Given the description of an element on the screen output the (x, y) to click on. 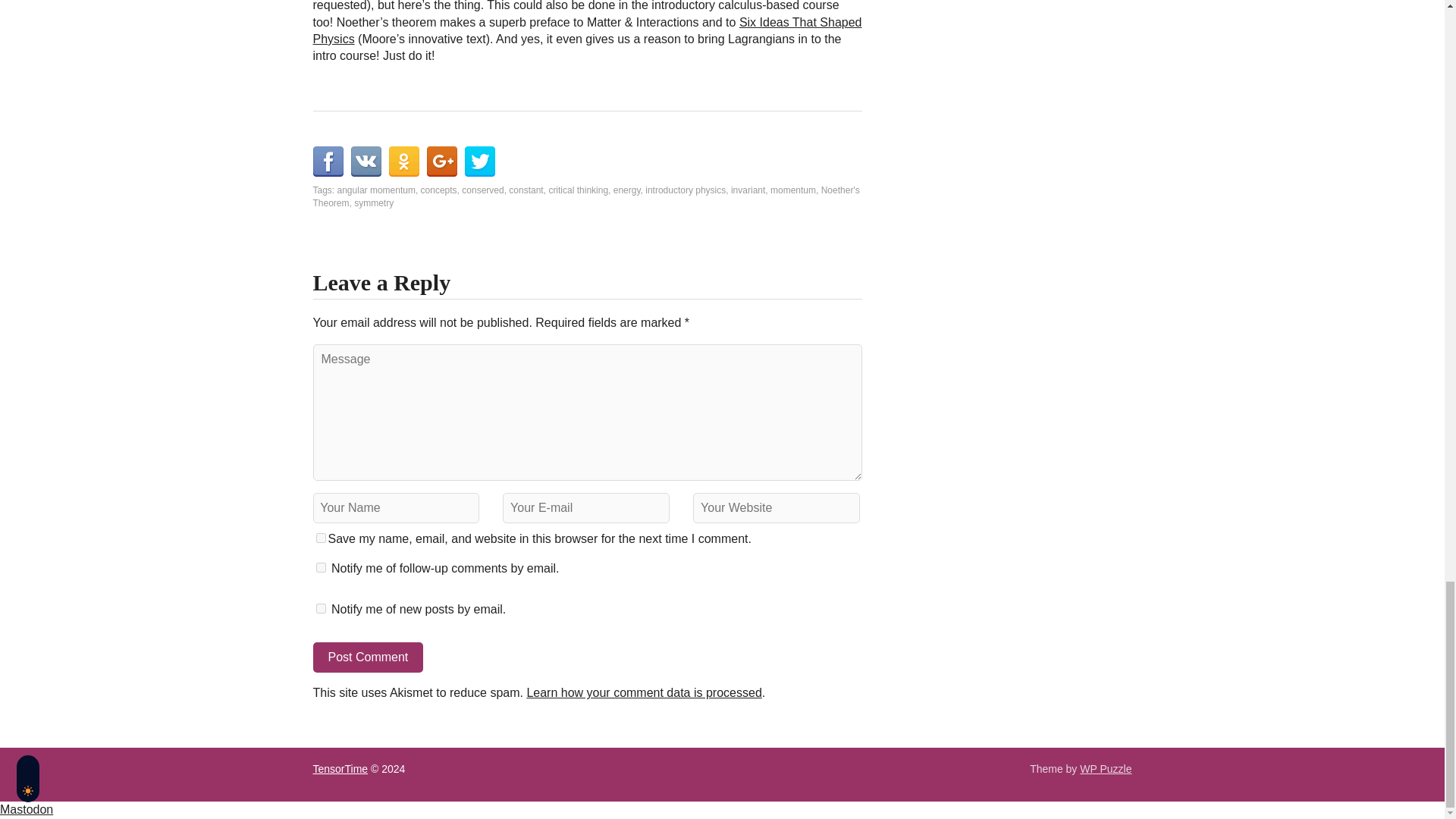
constant (525, 190)
energy (626, 190)
subscribe (319, 567)
subscribe (319, 608)
Six Ideas That Shaped Physics (587, 30)
Share in Twitter (479, 161)
concepts (438, 190)
Share in VK (365, 161)
yes (319, 537)
Six Ideas That Shaped Physics (587, 30)
critical thinking (578, 190)
Post Comment (368, 657)
Share in OK (403, 161)
Share in Facebook (327, 161)
conserved (482, 190)
